Given the description of an element on the screen output the (x, y) to click on. 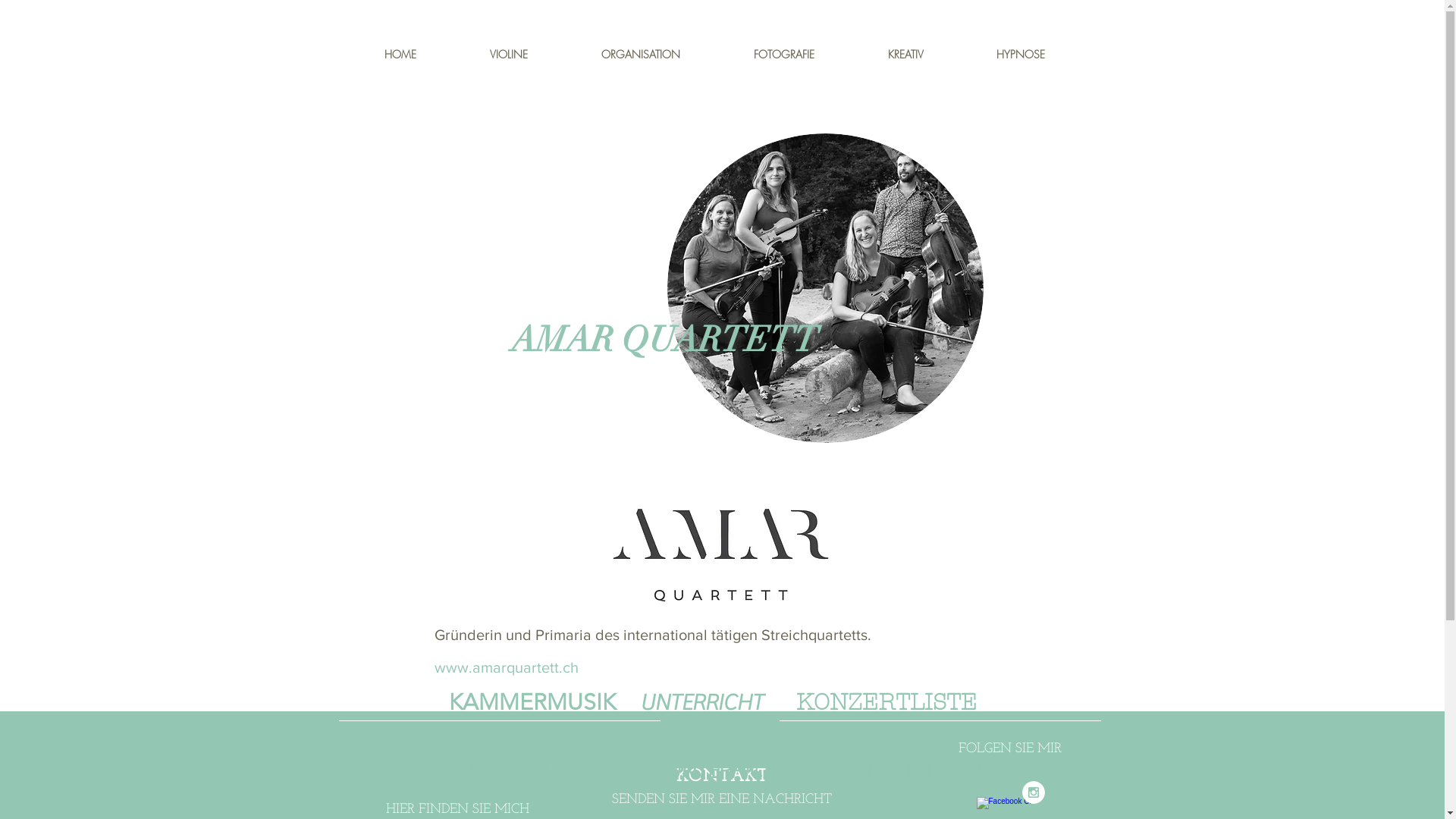
KREATIV Element type: text (930, 53)
KONZERTLISTE Element type: text (886, 703)
amar-master-logo.ai.jpg Element type: hover (722, 551)
HOME Element type: text (425, 53)
KONZERTLISTE Element type: text (912, 772)
ORGANISATION Element type: text (665, 53)
    Element type: text (653, 772)
www.amarquartett.ch Element type: text (505, 666)
AMAR QUARTETT Element type: text (541, 770)
UNTERRICHT     Element type: text (718, 703)
KAMMERMUSIK     Element type: text (544, 703)
FOTOGRAFIE Element type: text (808, 53)
HYPNOSE Element type: text (1044, 53)
UNTERRICHT     Element type: text (743, 772)
VIOLINE Element type: text (533, 53)
